Given the description of an element on the screen output the (x, y) to click on. 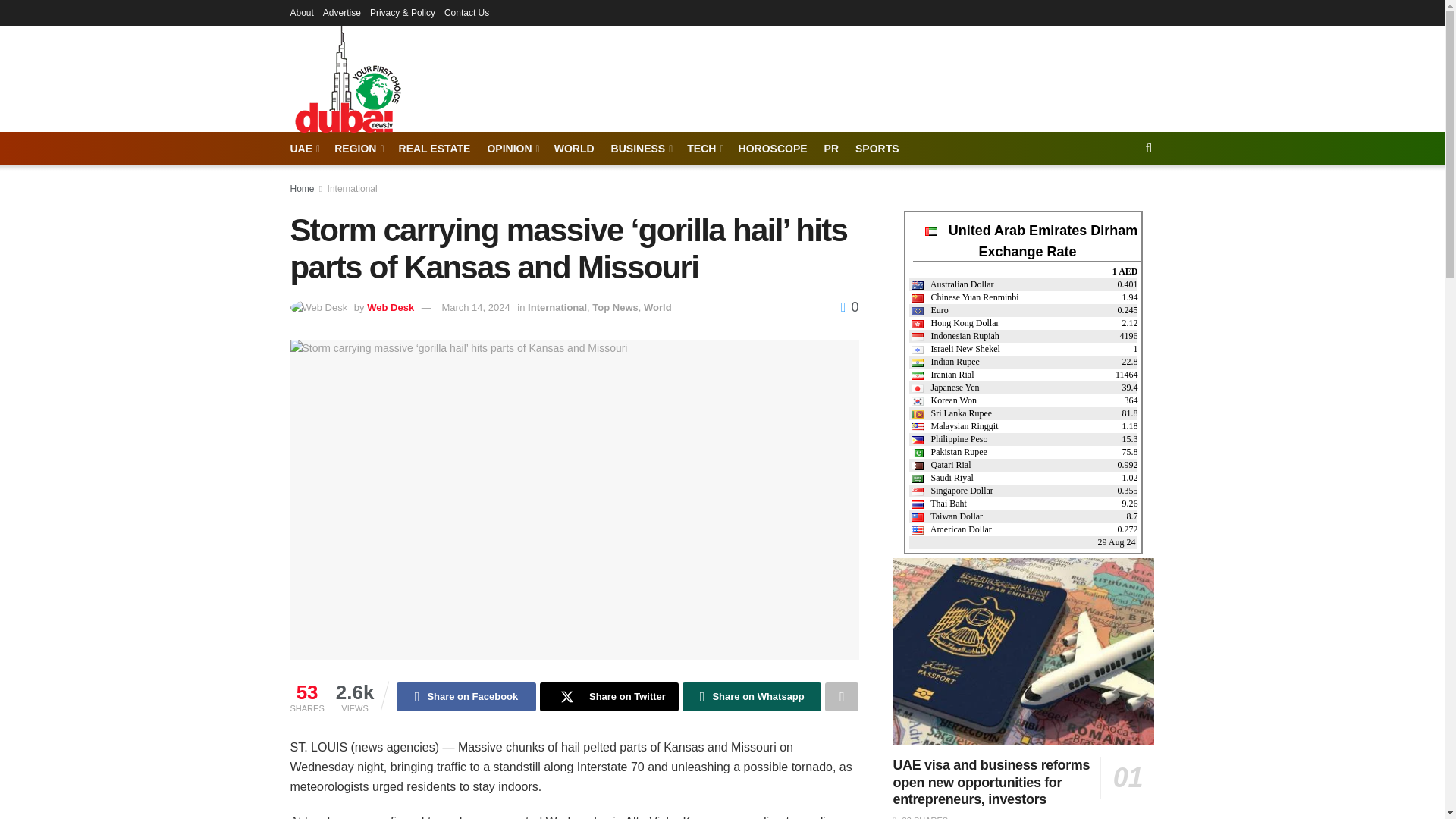
Chinese Yuan Renminbi (917, 298)
BUSINESS (641, 148)
TECH (703, 148)
Australian Dollar (951, 284)
Euro (929, 309)
Hong Kong Dollar (954, 322)
Advertise (342, 12)
WORLD (574, 148)
REGION (357, 148)
Contact Us (466, 12)
